Given the description of an element on the screen output the (x, y) to click on. 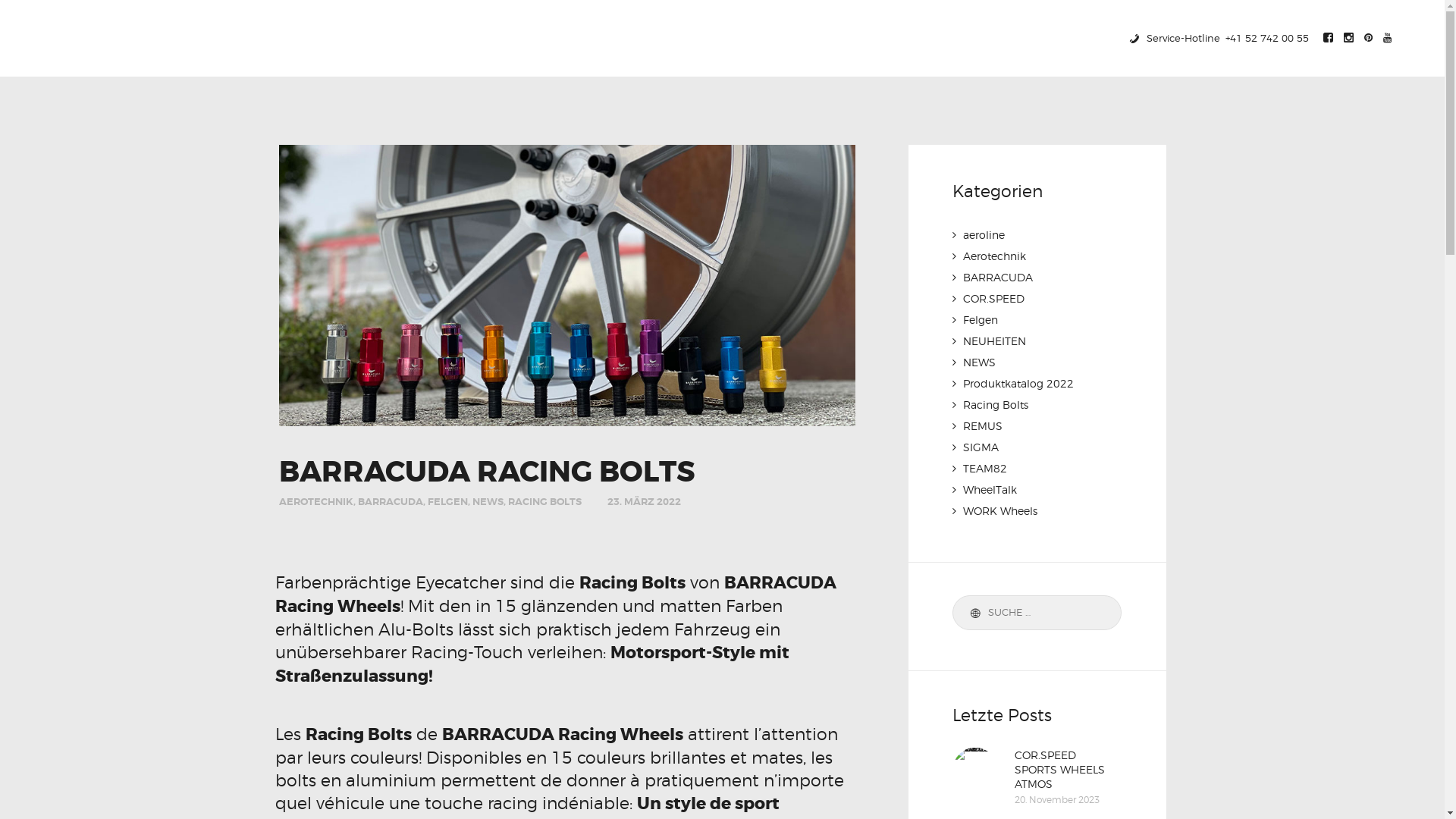
Racing Bolts Element type: text (995, 403)
Produktkatalog 2022 Element type: text (1018, 382)
Suche Element type: text (971, 612)
SIGMA Element type: text (980, 445)
NEWS Element type: text (486, 501)
REMUS Element type: text (982, 424)
BARRACUDA Element type: text (997, 275)
TEAM82 Element type: text (985, 467)
BARRACUDA Element type: text (390, 501)
AEROTECHNIK Element type: text (316, 501)
RACING BOLTS Element type: text (544, 501)
20. November 2023 Element type: text (1056, 799)
WheelTalk Element type: text (989, 488)
NEWS Element type: text (979, 360)
FELGEN Element type: text (447, 501)
NEUHEITEN Element type: text (994, 339)
aeroline Element type: text (983, 233)
WORK Wheels Element type: text (1000, 509)
Felgen Element type: text (980, 318)
Aerotechnik Element type: text (994, 254)
COR.SPEED Element type: text (993, 297)
Service-Hotline+41 52 742 00 55 Element type: text (1217, 37)
COR.SPEED SPORTS WHEELS ATMOS Element type: text (1067, 768)
